Given the description of an element on the screen output the (x, y) to click on. 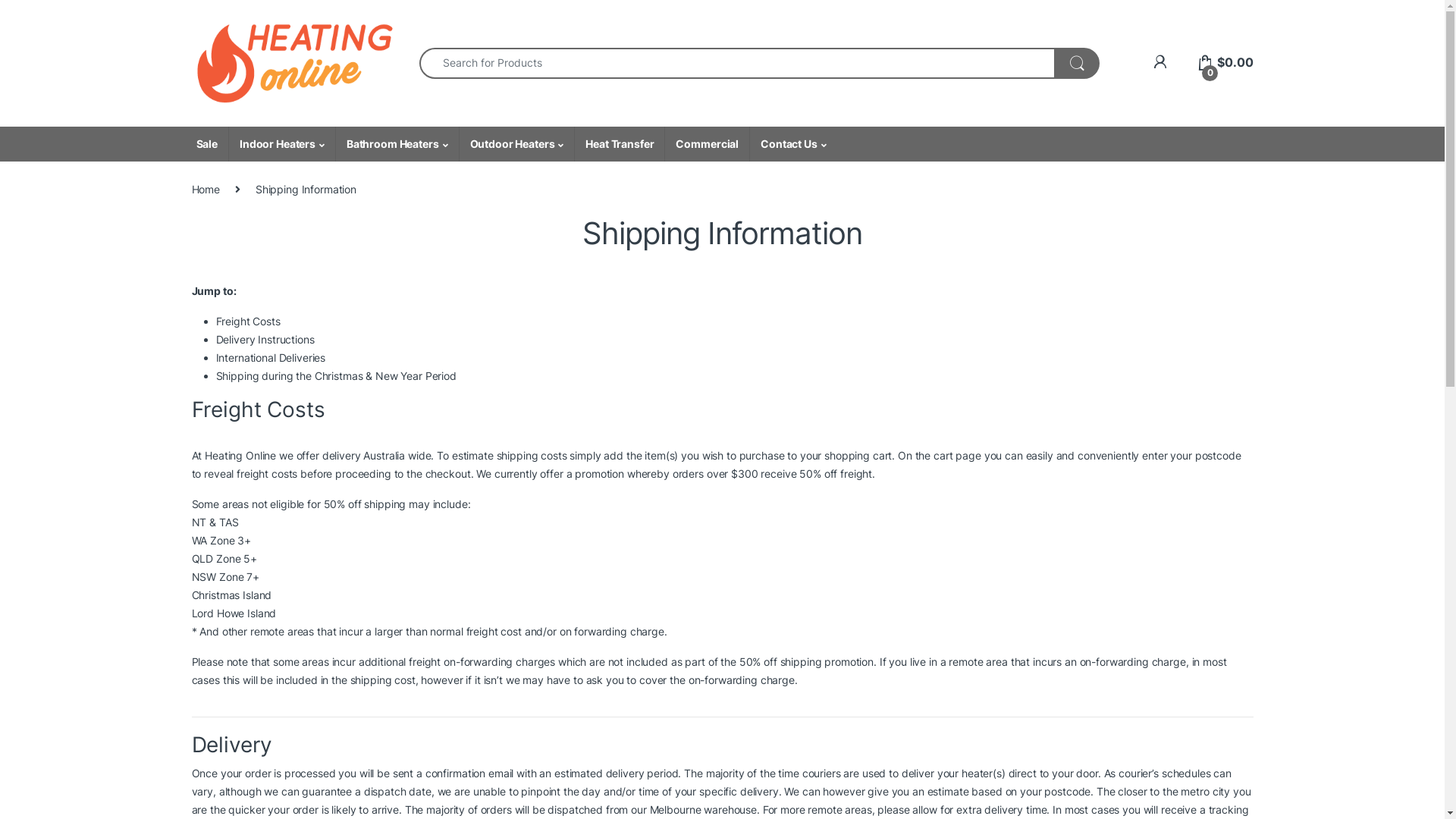
Heat Transfer Element type: text (619, 143)
International Deliveries Element type: text (270, 357)
Bathroom Heaters Element type: text (396, 143)
0
$0.00 Element type: text (1224, 62)
Indoor Heaters Element type: text (281, 143)
Contact Us Element type: text (792, 143)
Outdoor Heaters Element type: text (516, 143)
Home Element type: text (205, 188)
Delivery Instructions Element type: text (264, 338)
Shipping during the Christmas & New Year Period Element type: text (335, 375)
Sale Element type: text (206, 143)
Freight Costs Element type: text (247, 320)
Commercial Element type: text (706, 143)
